Given the description of an element on the screen output the (x, y) to click on. 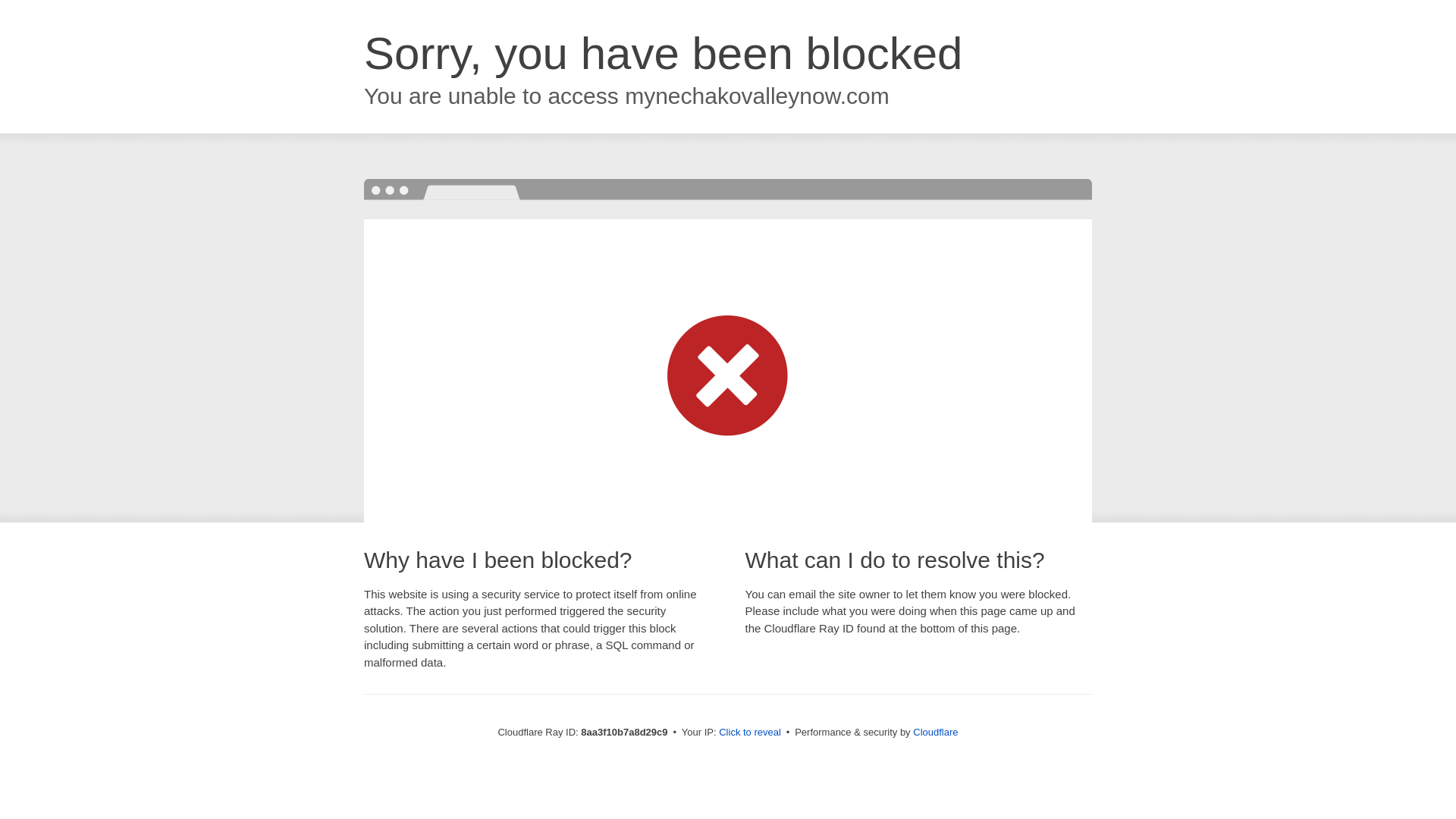
Cloudflare (935, 731)
Click to reveal (749, 732)
